Given the description of an element on the screen output the (x, y) to click on. 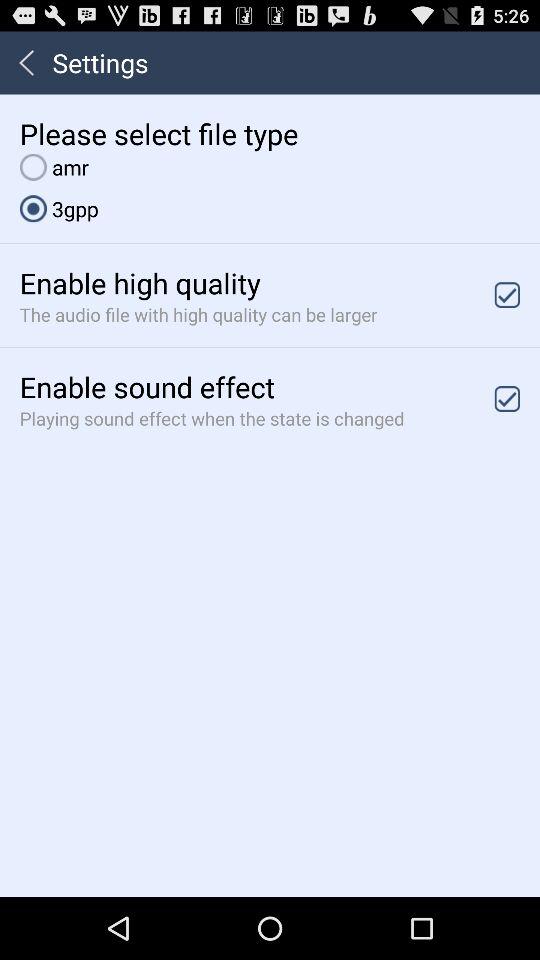
tap the icon at the top right corner (507, 294)
